Given the description of an element on the screen output the (x, y) to click on. 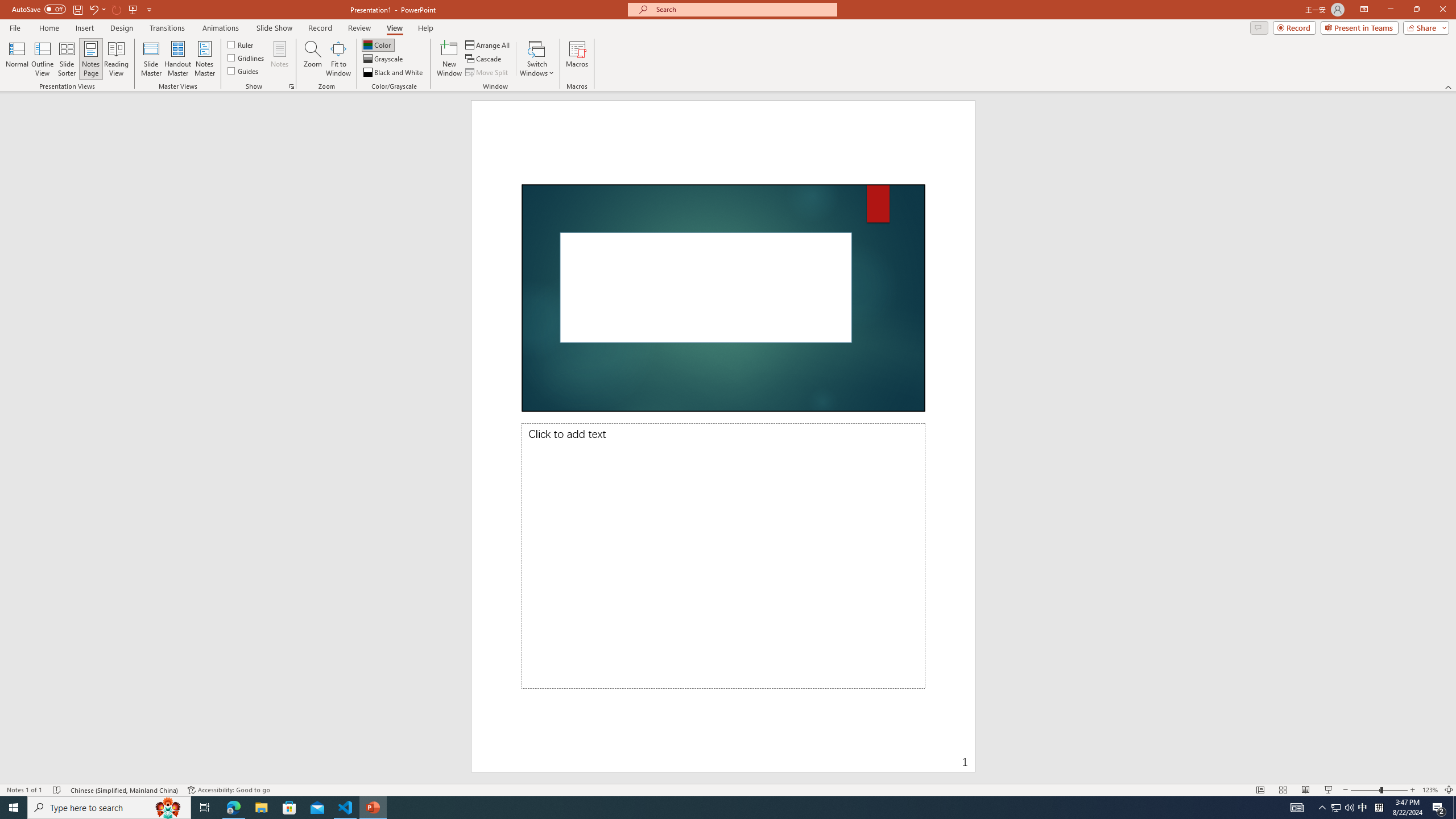
Fit to Window (338, 58)
Handout Master (177, 58)
Collapse the Ribbon (1448, 86)
Undo (92, 9)
Quick Access Toolbar (82, 9)
Page Number (866, 754)
Insert (83, 28)
Zoom 123% (1430, 790)
Help (425, 28)
System (6, 6)
Accessibility Checker Accessibility: Good to go (229, 790)
Zoom In (1412, 790)
Transitions (167, 28)
Restore Down (1416, 9)
Zoom to Fit  (1449, 790)
